Given the description of an element on the screen output the (x, y) to click on. 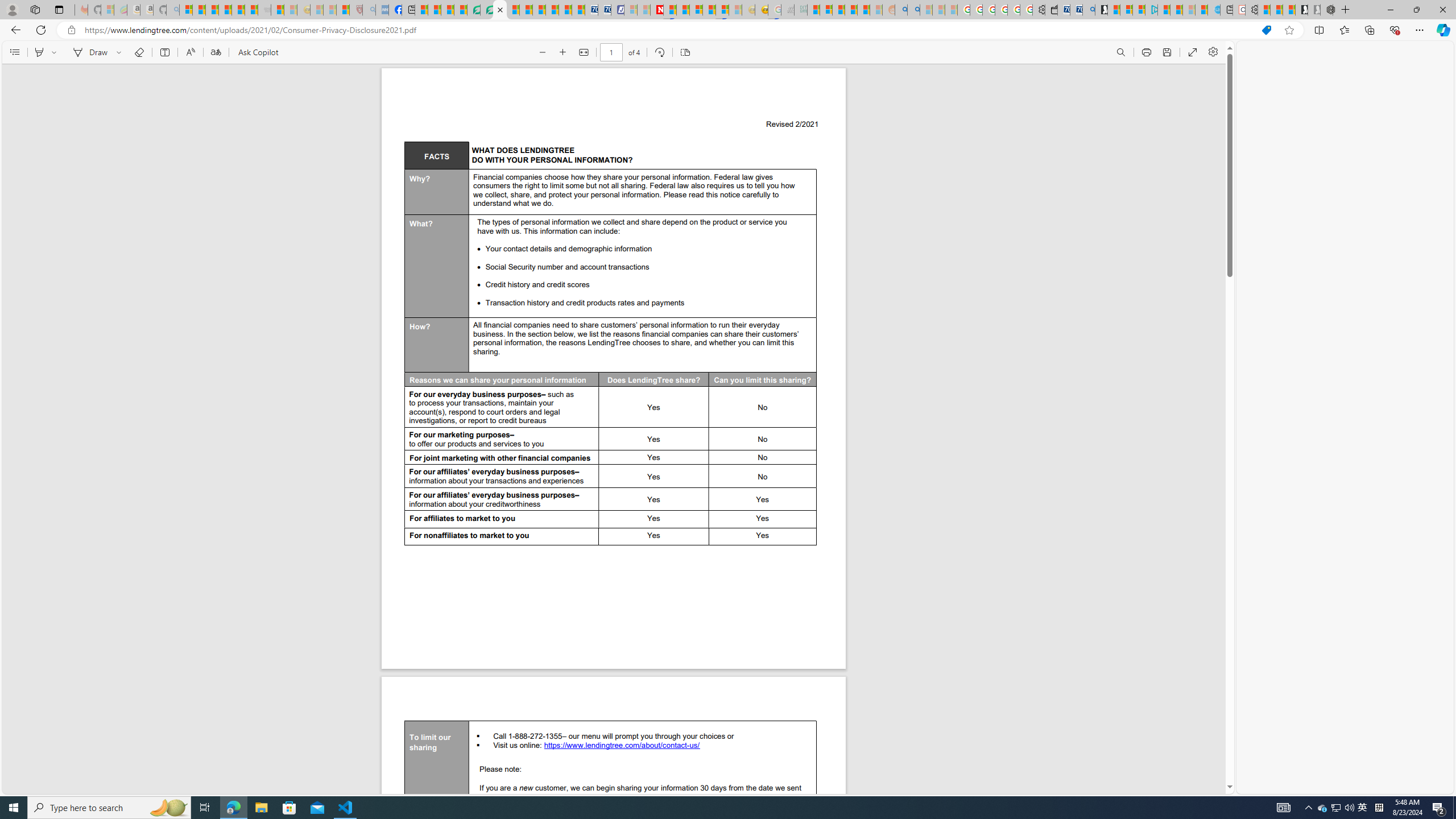
Local - MSN (342, 9)
Combat Siege - Sleeping (264, 9)
Save (Ctrl+S) (1166, 52)
Erase (138, 52)
Page view (685, 52)
Microsoft Start Gaming (1101, 9)
The Weather Channel - MSN (212, 9)
14 Common Myths Debunked By Scientific Facts (682, 9)
Print (Ctrl+P) (1146, 52)
